Given the description of an element on the screen output the (x, y) to click on. 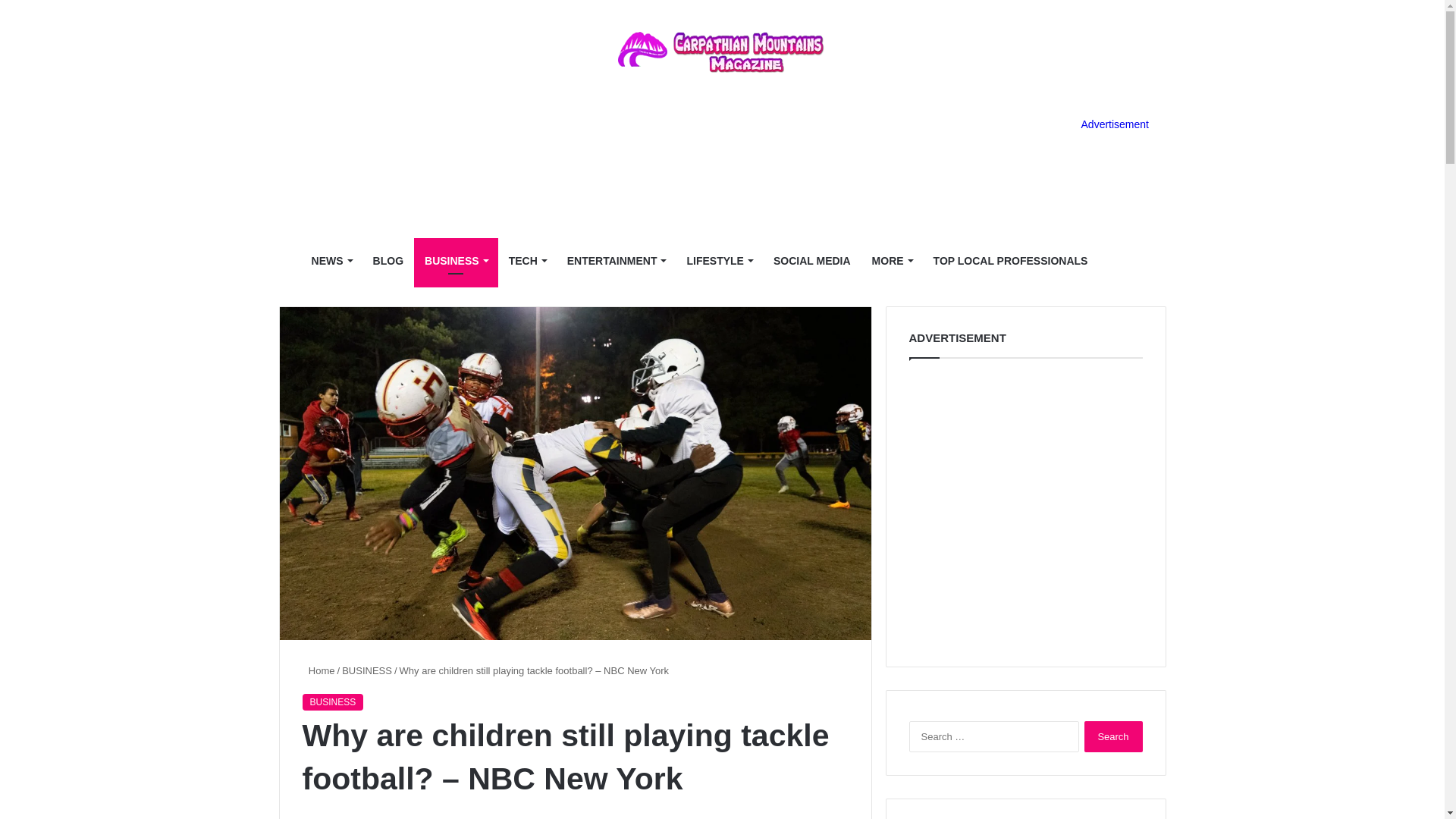
BLOG (387, 260)
MORE (892, 260)
BUSINESS (455, 260)
TECH (526, 260)
carpathiam mountain magazine (722, 52)
Search (1113, 736)
ENTERTAINMENT (616, 260)
SOCIAL MEDIA (811, 260)
NEWS (331, 260)
Search (1113, 736)
LIFESTYLE (718, 260)
